Given the description of an element on the screen output the (x, y) to click on. 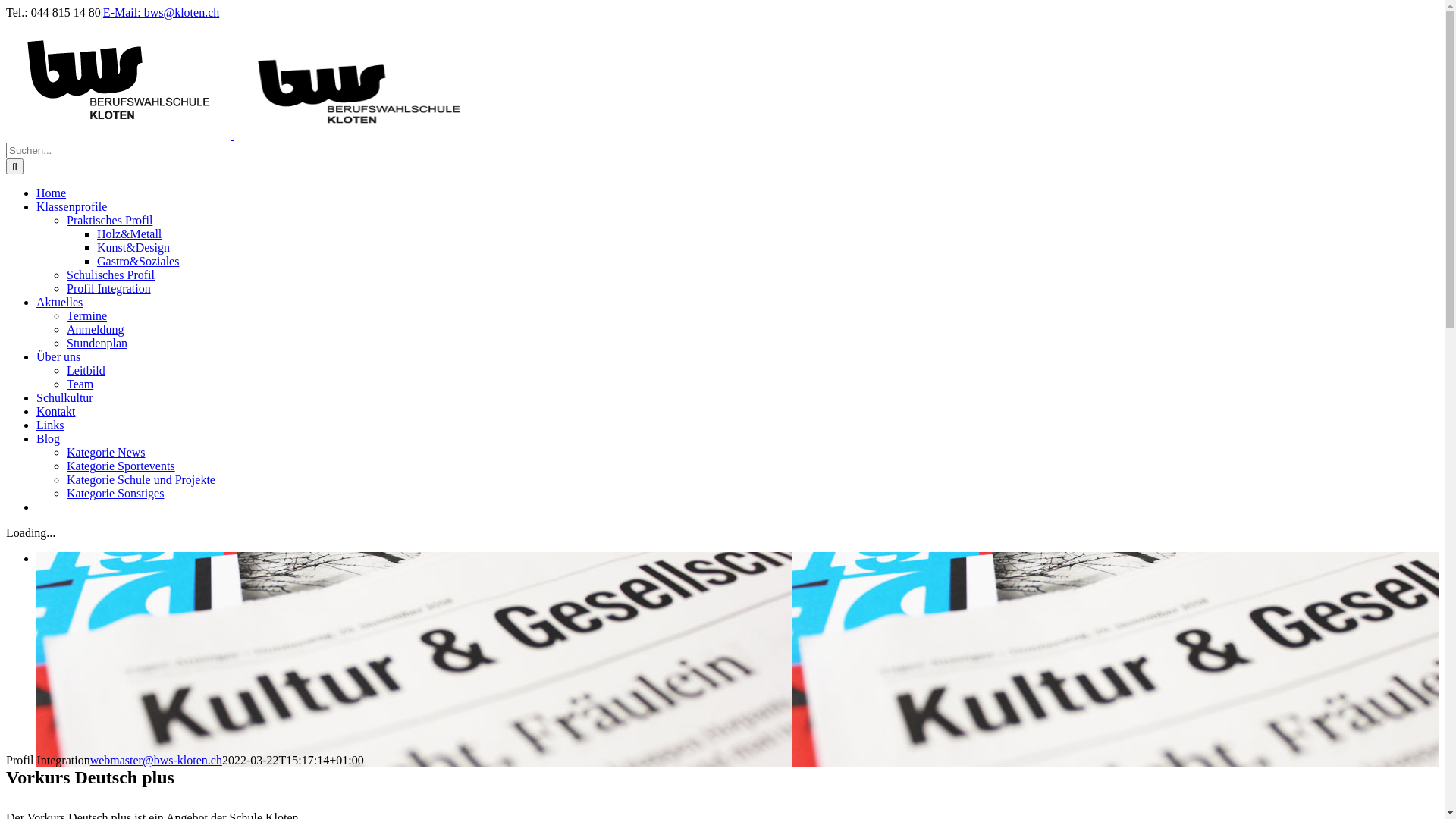
Kontakt Element type: text (55, 410)
Holz&Metall Element type: text (129, 233)
Blog Element type: text (47, 438)
Schulisches Profil Element type: text (110, 274)
Leitbild Element type: text (85, 370)
Team Element type: text (79, 383)
Kategorie News Element type: text (105, 451)
Kategorie Sonstiges Element type: text (114, 492)
Stundenplan Element type: text (96, 342)
Zum Inhalt springen Element type: text (5, 5)
Schulkultur Element type: text (64, 397)
Home Element type: text (50, 192)
E-Mail: bws@kloten.ch Element type: text (161, 12)
Kunst&Design Element type: text (133, 247)
Profil Integration Element type: text (108, 288)
Kategorie Sportevents Element type: text (120, 465)
Aktuelles Element type: text (59, 301)
webmaster@bws-kloten.ch Element type: text (156, 759)
Links Element type: text (49, 424)
Anmeldung Element type: text (95, 329)
Praktisches Profil Element type: text (109, 219)
Gastro&Soziales Element type: text (137, 260)
Kategorie Schule und Projekte Element type: text (140, 479)
Termine Element type: text (86, 315)
Klassenprofile Element type: text (71, 206)
